Given the description of an element on the screen output the (x, y) to click on. 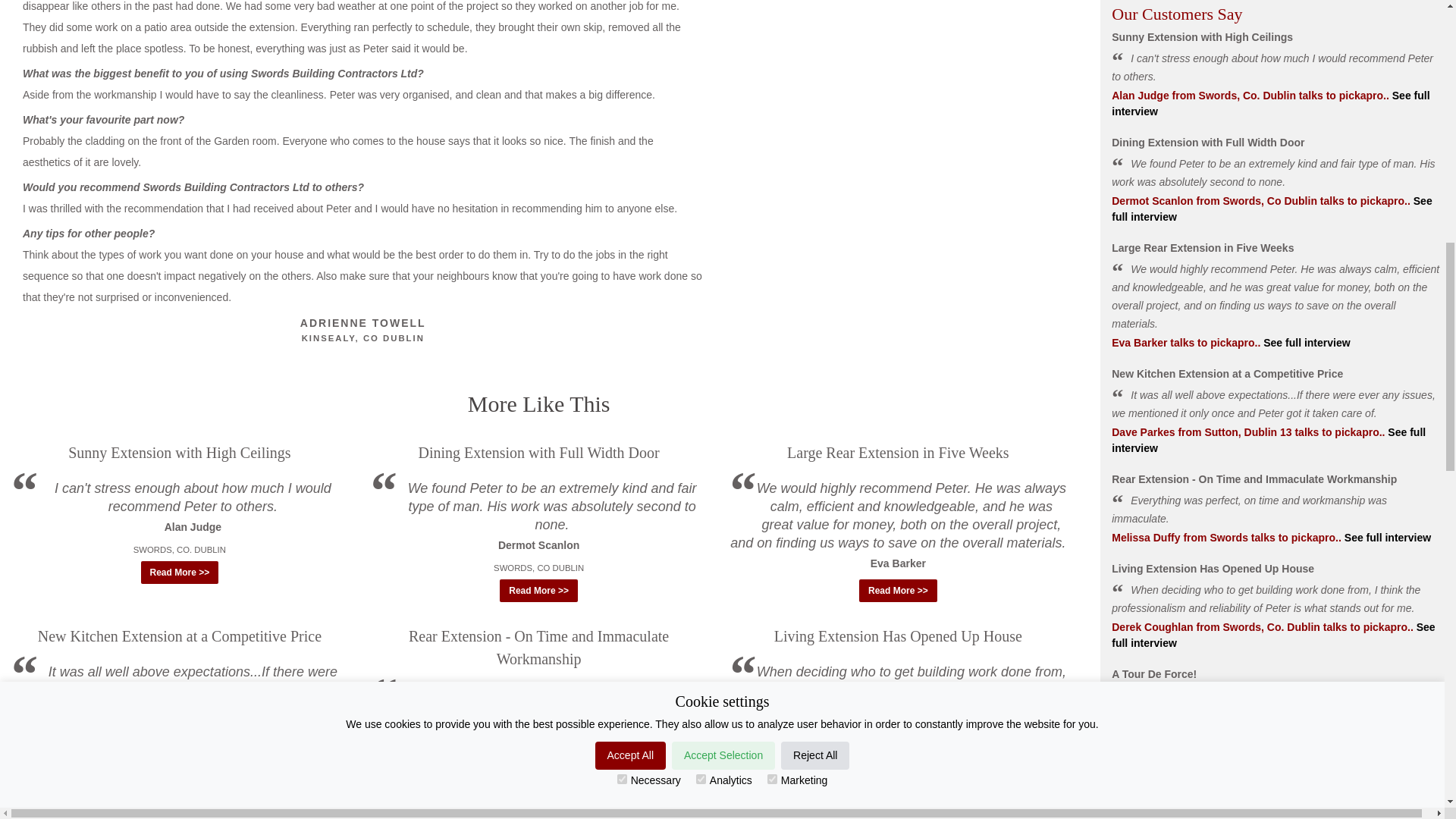
Rear Extension For Growing Family (898, 817)
A Tour De Force! (178, 817)
Dining Extension with Full Width Door (538, 452)
Large Rear Extension in Five Weeks (898, 452)
New Kitchen Extension at a Competitive Price (179, 636)
Rear Extension - On Time and Immaculate Workmanship (538, 647)
Kitchen Extension Clontarf (539, 817)
Sunny Extension with High Ceilings (178, 452)
Living Extension Has Opened Up House (898, 636)
